Given the description of an element on the screen output the (x, y) to click on. 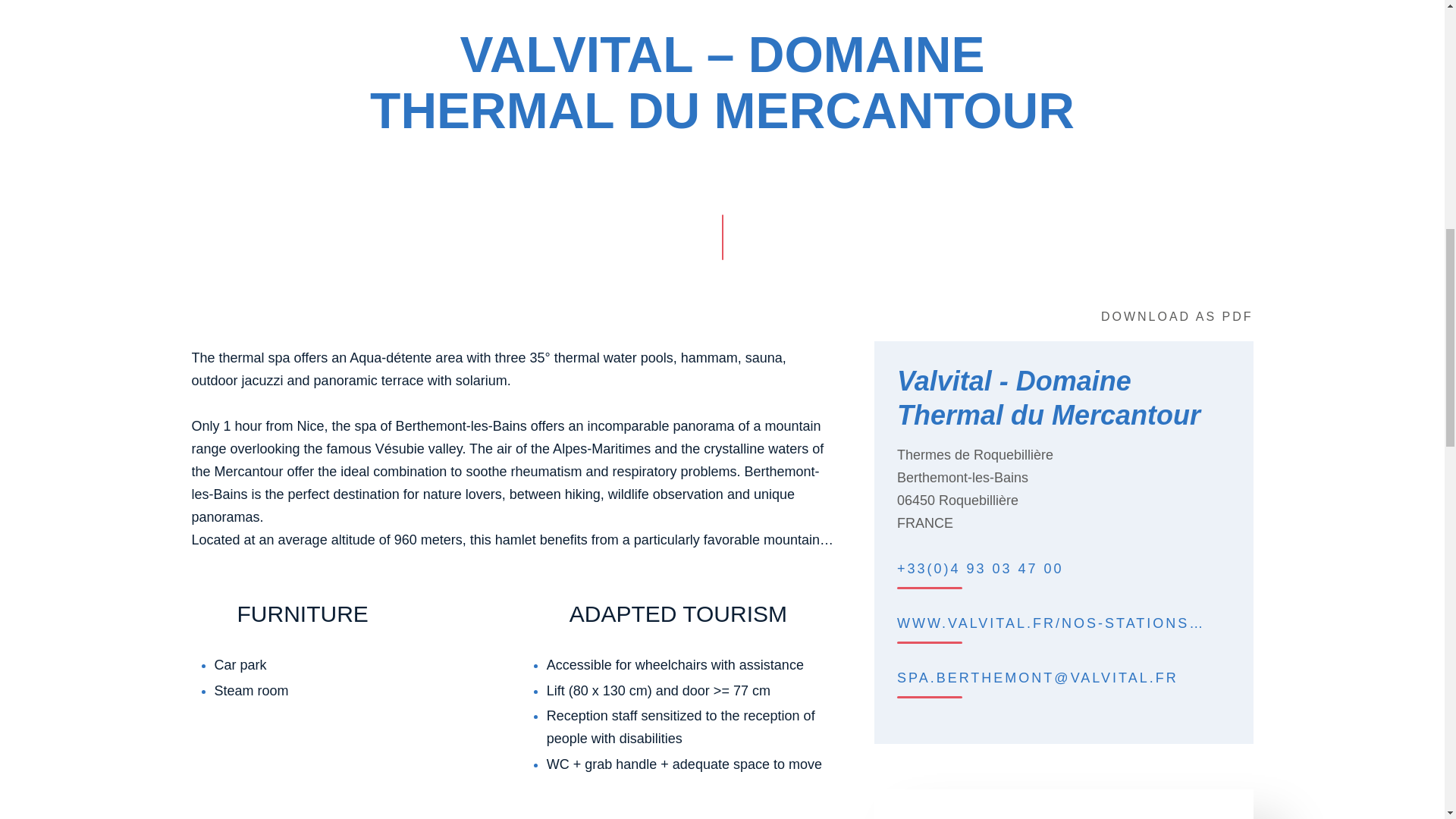
SKIP TO CONTENT (721, 210)
